Given the description of an element on the screen output the (x, y) to click on. 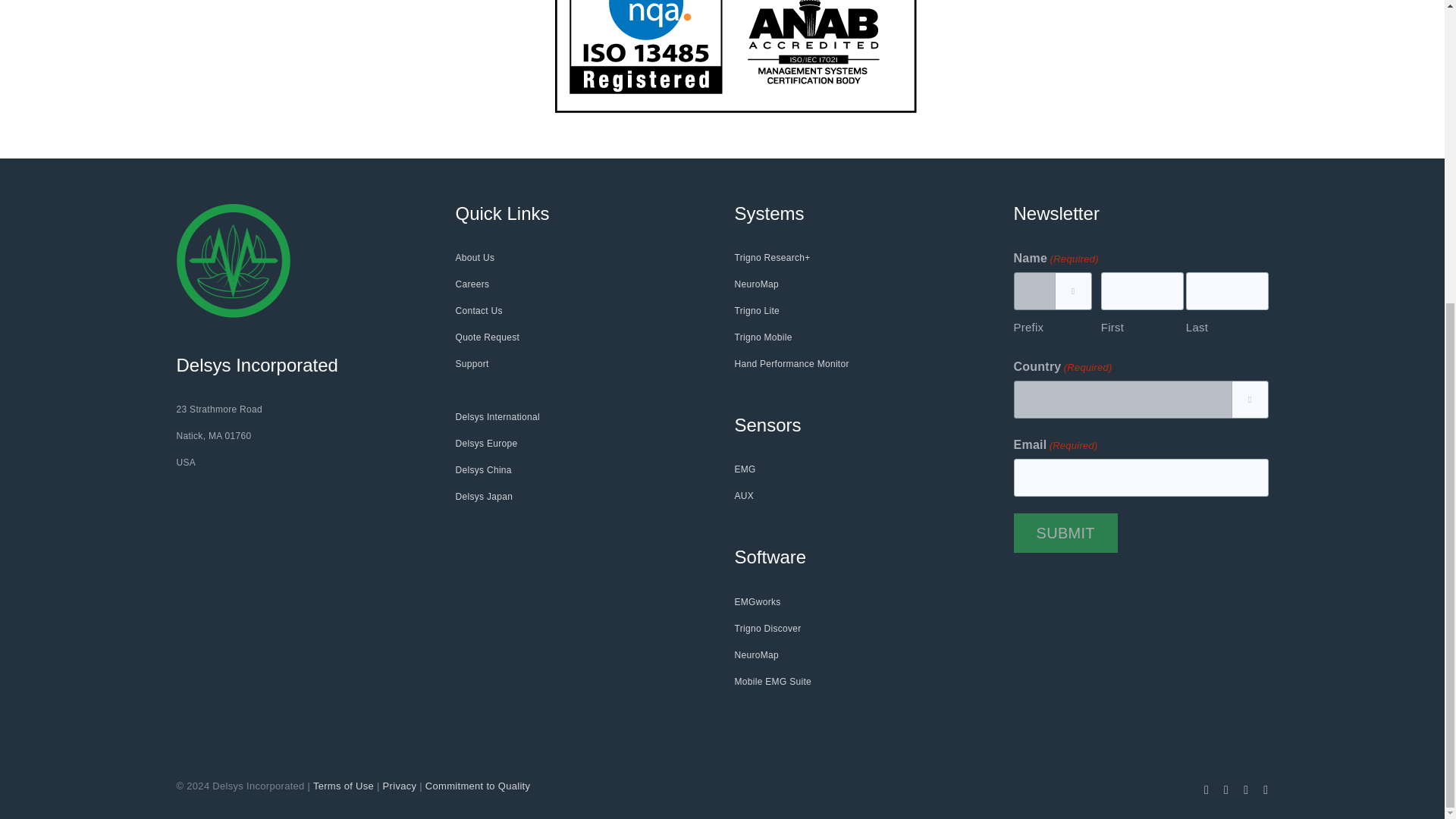
ISO 13485 (735, 56)
Submit (1064, 532)
